Given the description of an element on the screen output the (x, y) to click on. 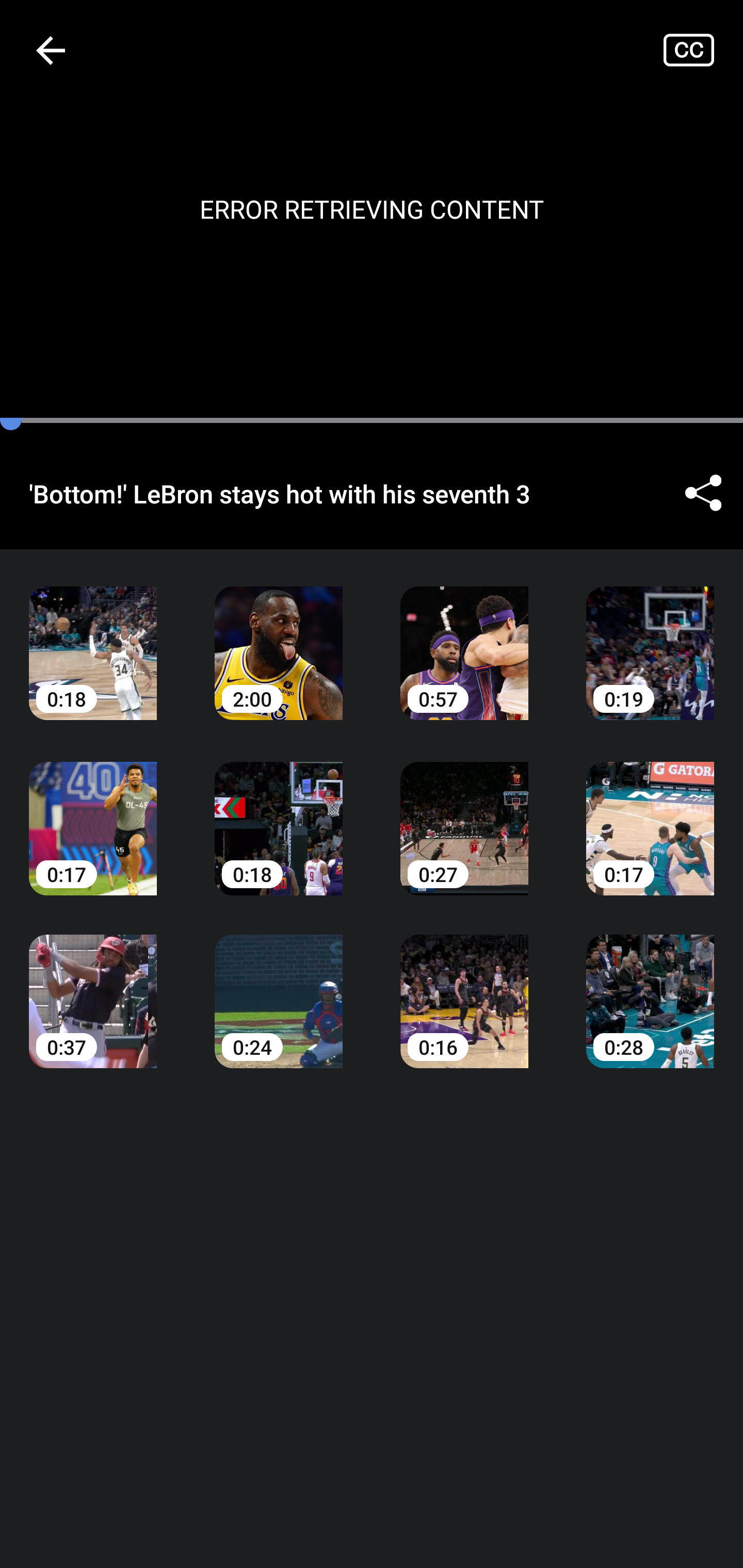
Navigate up (50, 50)
Closed captions  (703, 49)
Share © (703, 493)
0:18 (92, 637)
2:00 (278, 637)
0:57 (464, 637)
0:19 (650, 637)
0:17 (92, 813)
0:18 (278, 813)
0:27 (464, 813)
0:17 (650, 813)
0:37 (92, 987)
0:24 (278, 987)
0:16 (464, 987)
0:28 (650, 987)
